Given the description of an element on the screen output the (x, y) to click on. 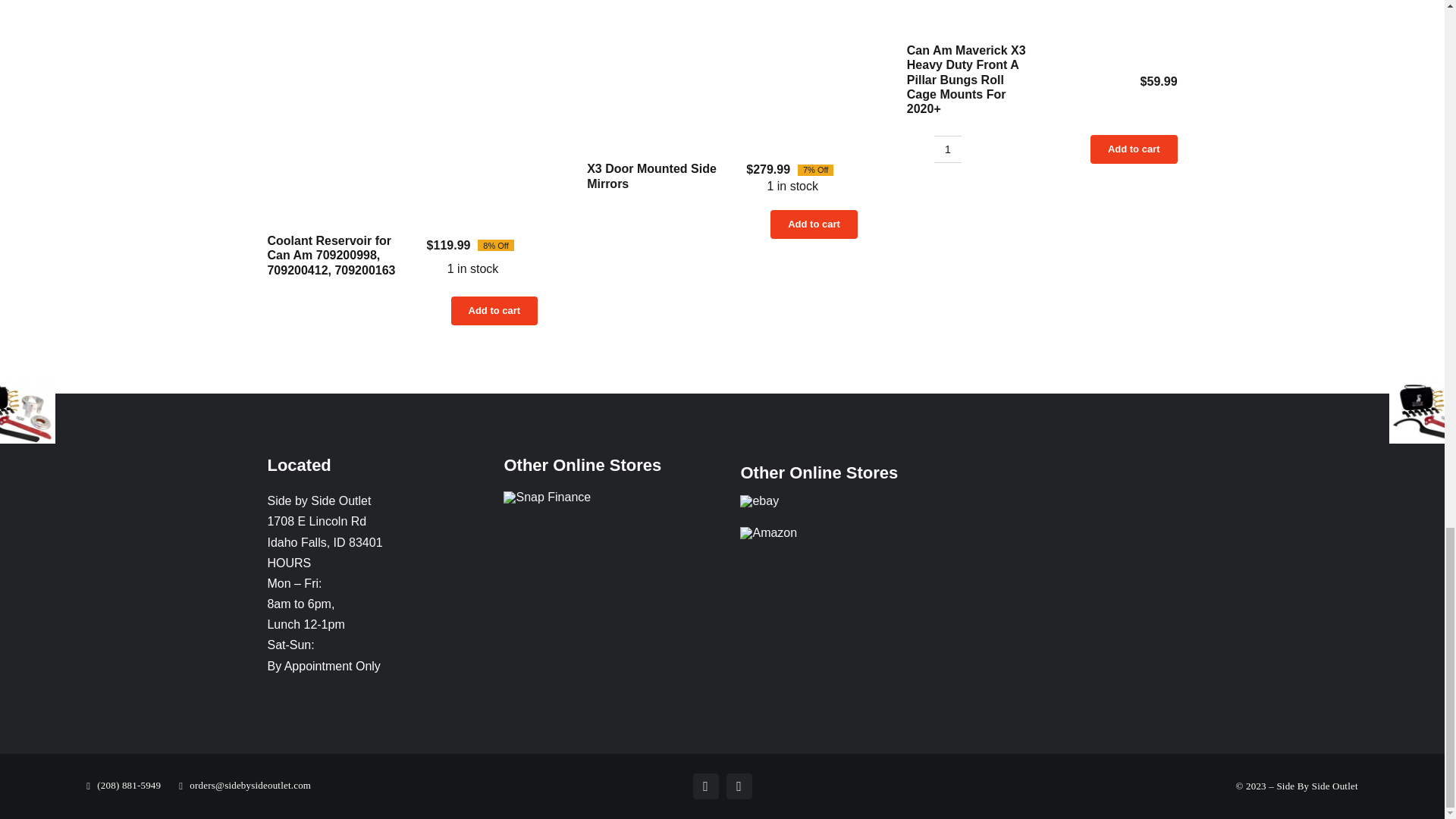
1 (947, 148)
Facebook (706, 786)
Instagram (739, 786)
Coolant Reservoir for Can Am 709200998, 709200412, 709200163 (401, 104)
X3 Door Mounted Side Mirrors (721, 67)
